Given the description of an element on the screen output the (x, y) to click on. 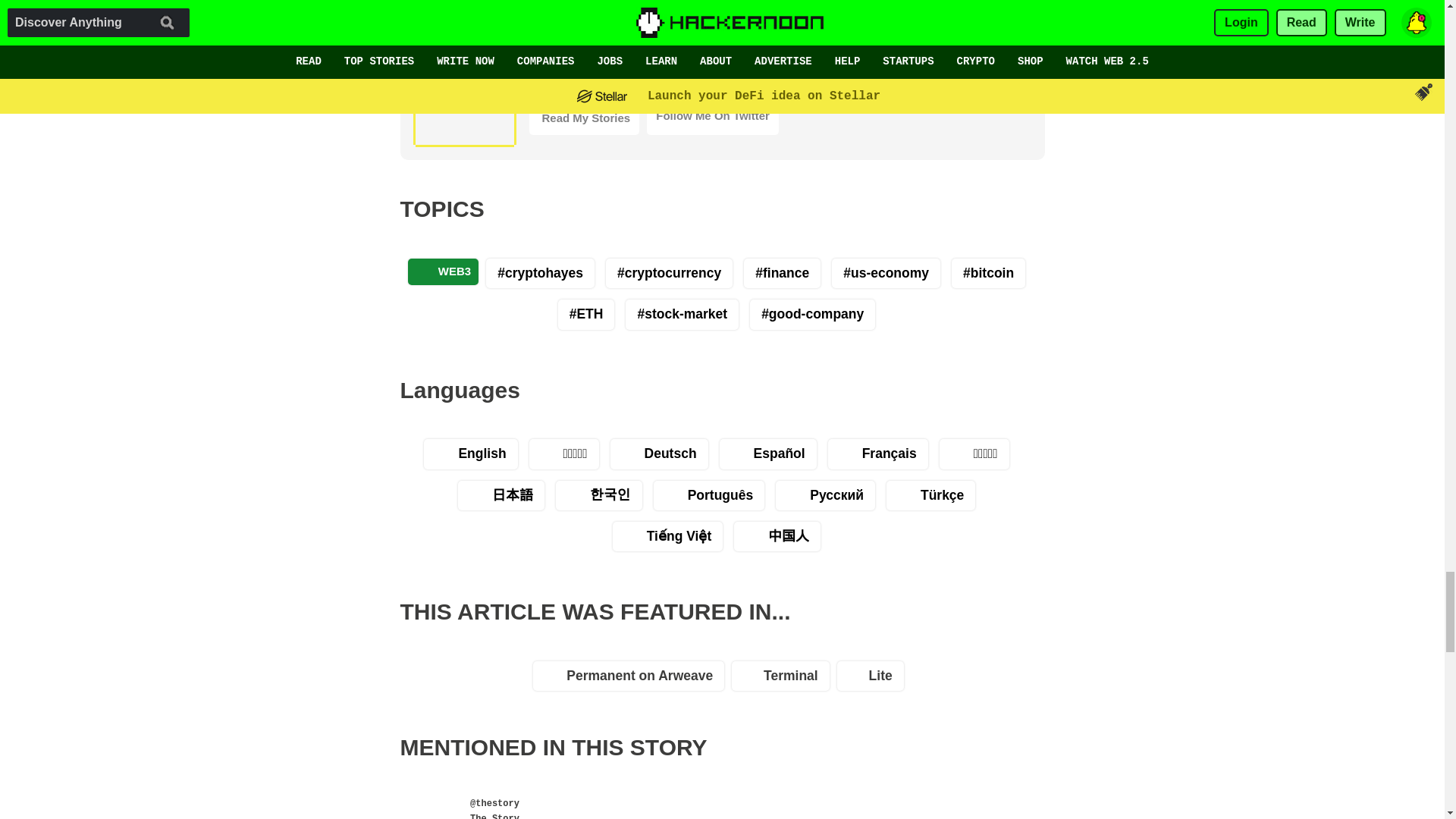
thestory (475, 804)
